Given the description of an element on the screen output the (x, y) to click on. 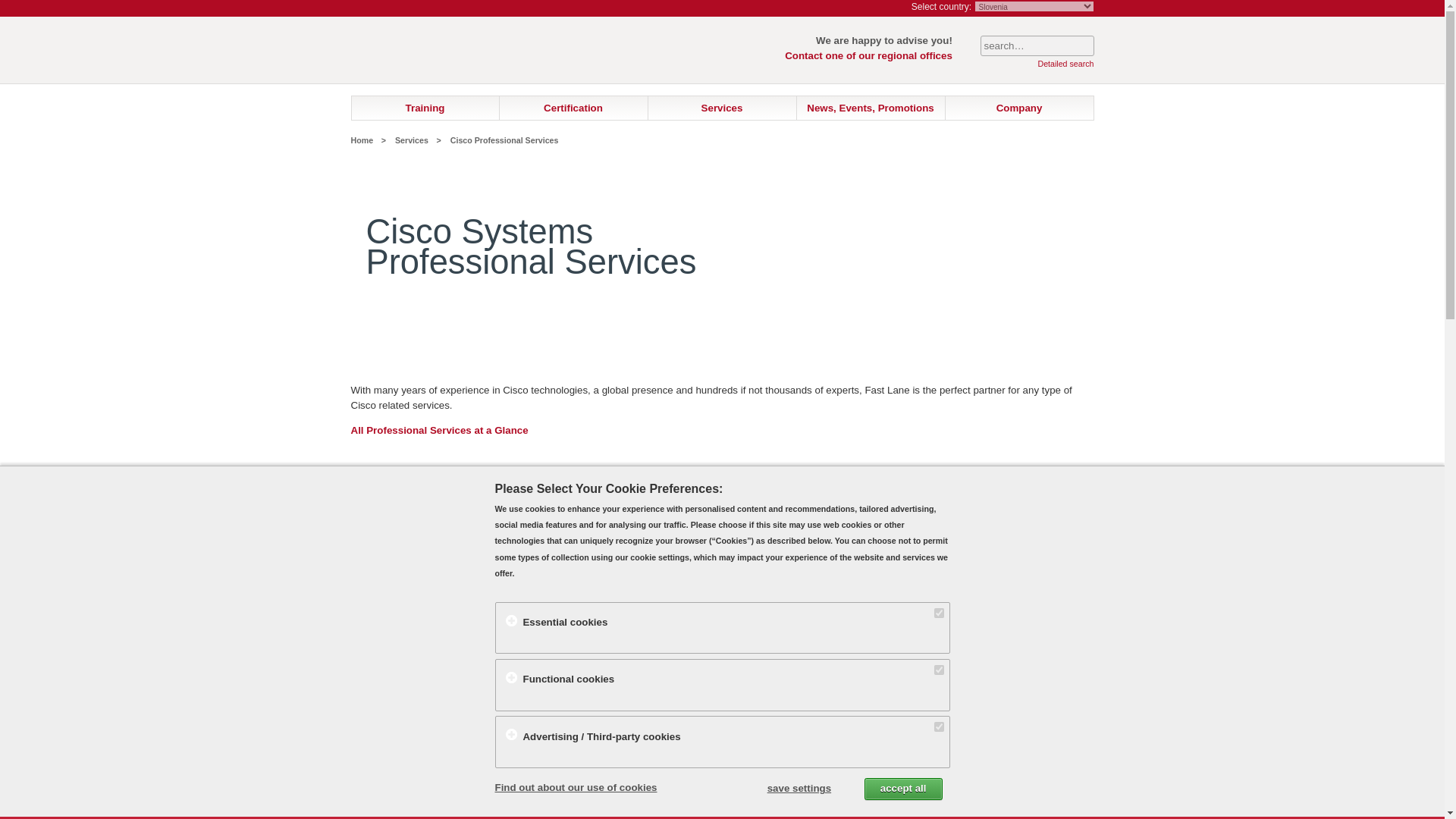
Find out about our use of cookies (575, 787)
save settings (799, 787)
Fast Lane Homepage (440, 61)
Go to bookings page (886, 7)
1 (938, 669)
Select country: (941, 6)
Contact one of our regional offices (868, 55)
1 (938, 726)
accept all (903, 789)
Detailed search (1064, 62)
